Given the description of an element on the screen output the (x, y) to click on. 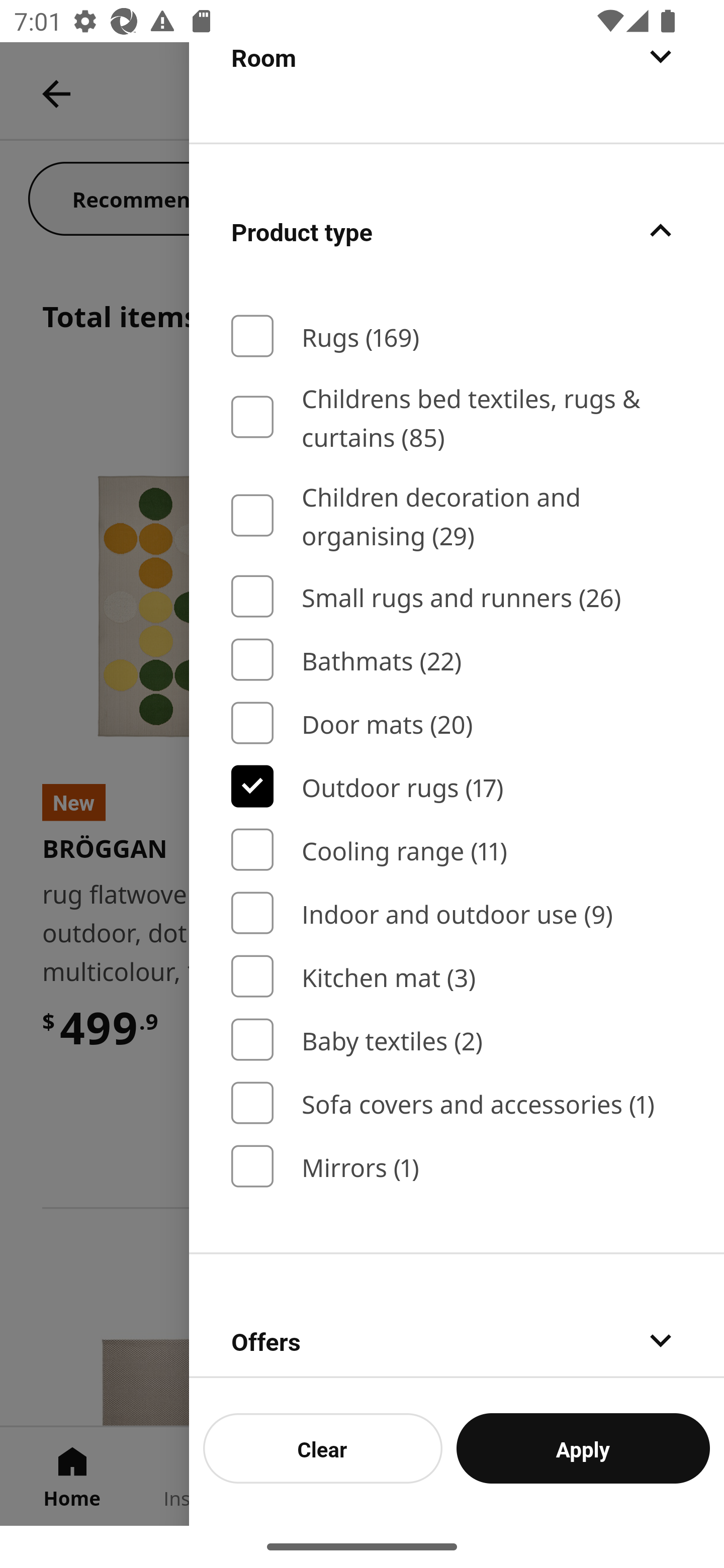
Room (456, 91)
Product type (456, 230)
Rugs (169) (456, 336)
Childrens bed textiles, rugs & curtains (85) (456, 416)
Children decoration and organising (29) (456, 515)
Small rugs and runners (26) (456, 596)
Bathmats (22) (456, 659)
Door mats (20) (456, 723)
Outdoor rugs (17) (456, 786)
Cooling range (11) (456, 849)
Indoor and outdoor use (9) (456, 913)
Kitchen mat (3) (456, 975)
Baby textiles (2) (456, 1040)
Sofa covers and accessories (1) (456, 1102)
Mirrors (1) (456, 1165)
Offers (456, 1315)
Clear (322, 1447)
Apply (583, 1447)
